Given the description of an element on the screen output the (x, y) to click on. 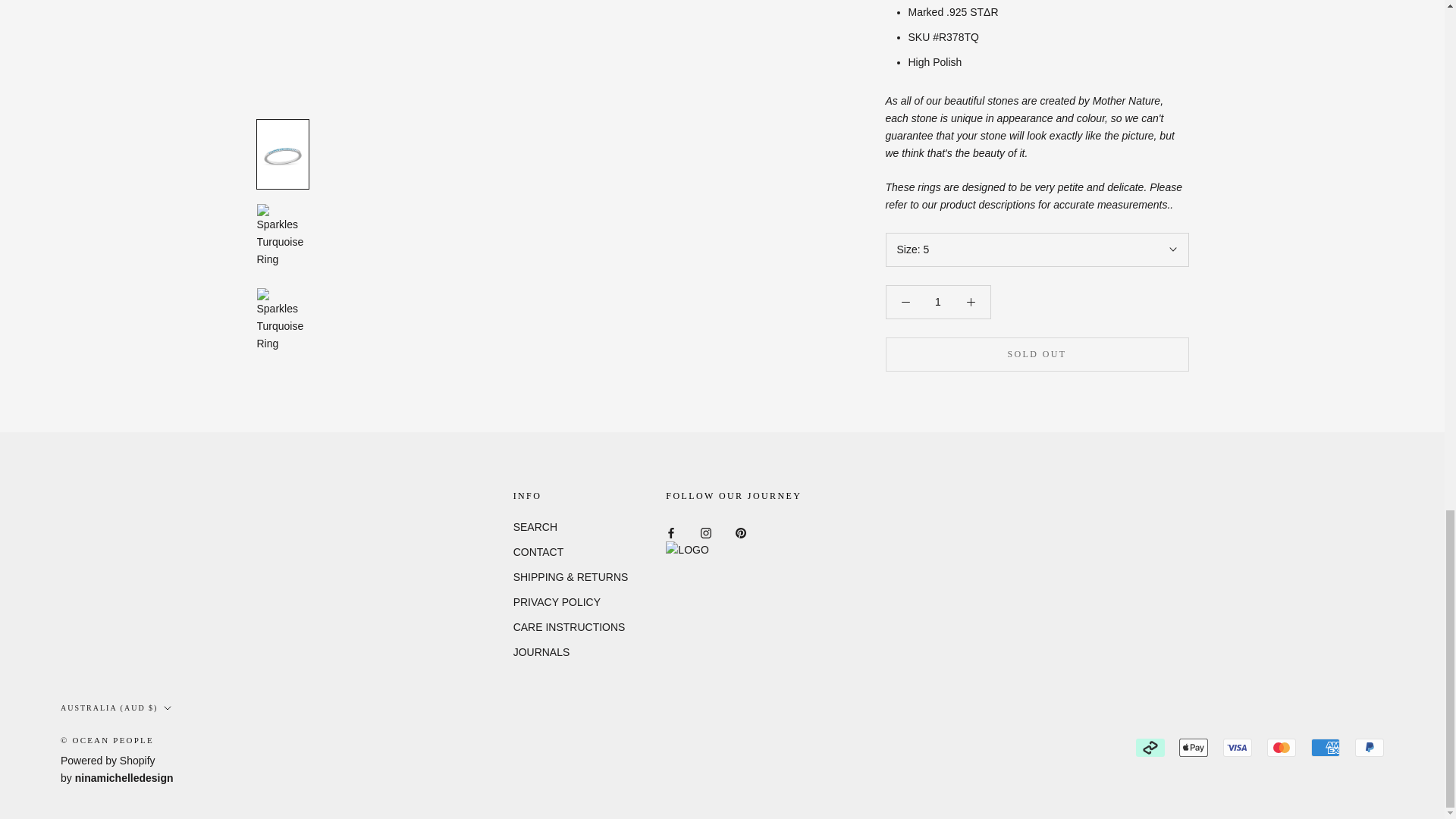
Mastercard (1280, 747)
Visa (1237, 747)
Apple Pay (1193, 747)
American Express (1325, 747)
PayPal (1369, 747)
Afterpay (1149, 747)
